Given the description of an element on the screen output the (x, y) to click on. 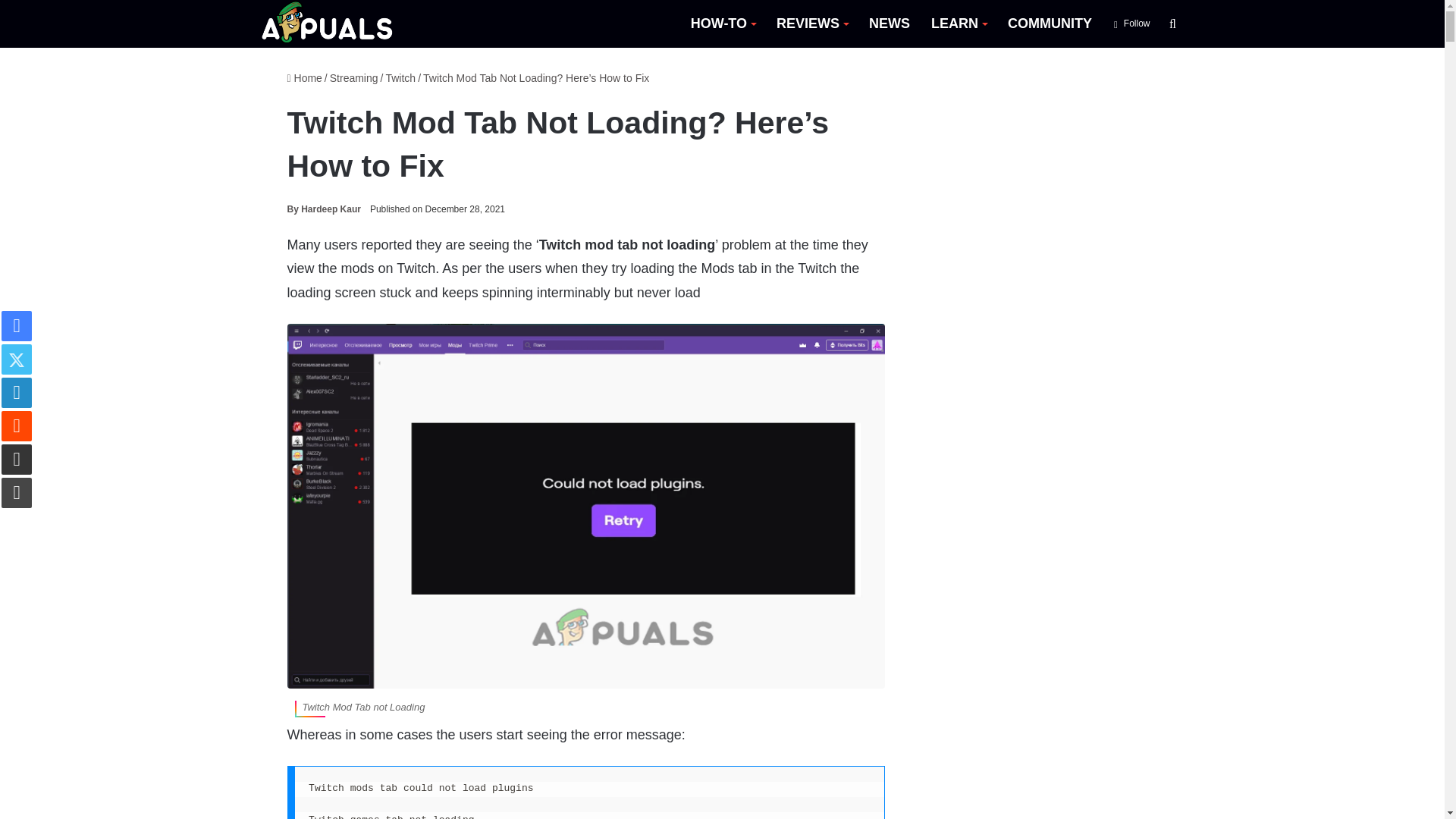
HOW-TO (722, 23)
NEWS (889, 23)
Print (16, 492)
Share via Email (16, 459)
LEARN (958, 23)
LinkedIn (16, 392)
Twitter (16, 358)
Facebook (16, 326)
Hardeep Kaur (322, 208)
COMMUNITY (1049, 23)
Reddit (16, 426)
REVIEWS (812, 23)
Appuals (327, 23)
